Given the description of an element on the screen output the (x, y) to click on. 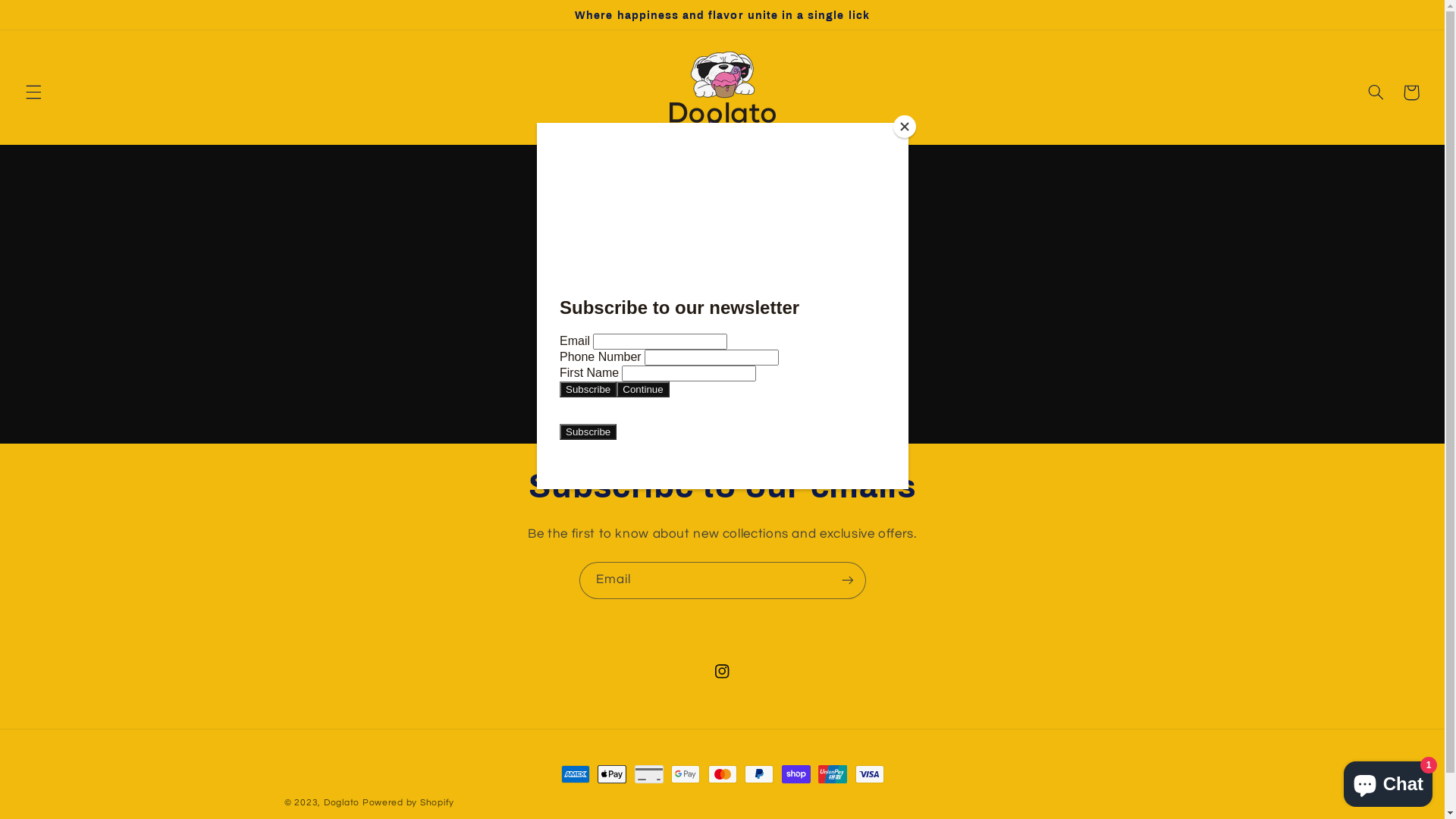
Powered by Shopify Element type: text (408, 802)
Doglato Element type: text (341, 802)
Shopify online store chat Element type: hover (1388, 780)
Cart Element type: text (1410, 92)
Continue shopping Element type: text (722, 366)
Instagram Element type: text (721, 670)
